Given the description of an element on the screen output the (x, y) to click on. 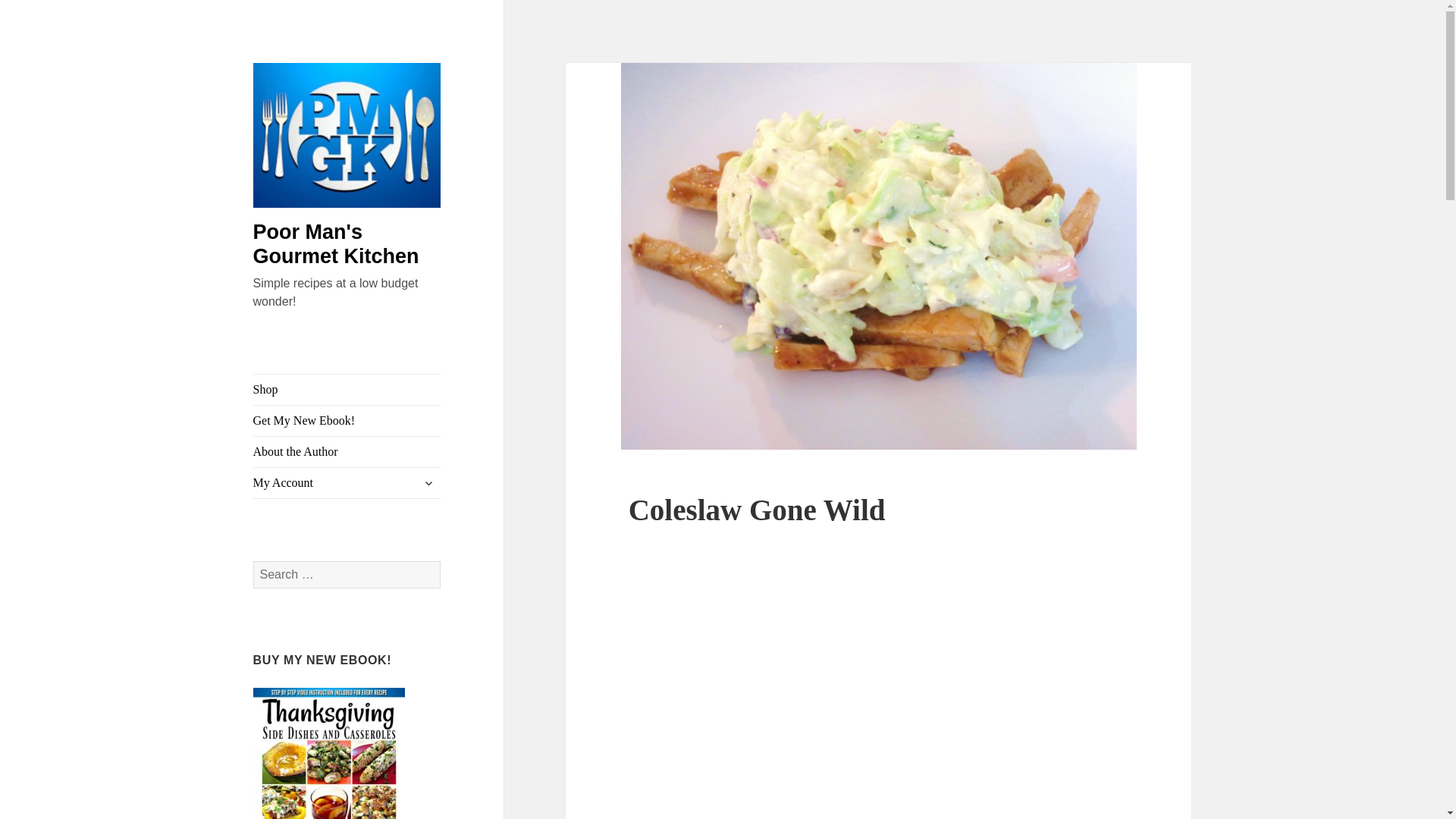
Advertisement (878, 671)
Shop (347, 389)
Poor Man's Gourmet Kitchen (336, 243)
Get My New Ebook! (347, 420)
My Account (347, 482)
About the Author (347, 451)
expand child menu (428, 482)
